Given the description of an element on the screen output the (x, y) to click on. 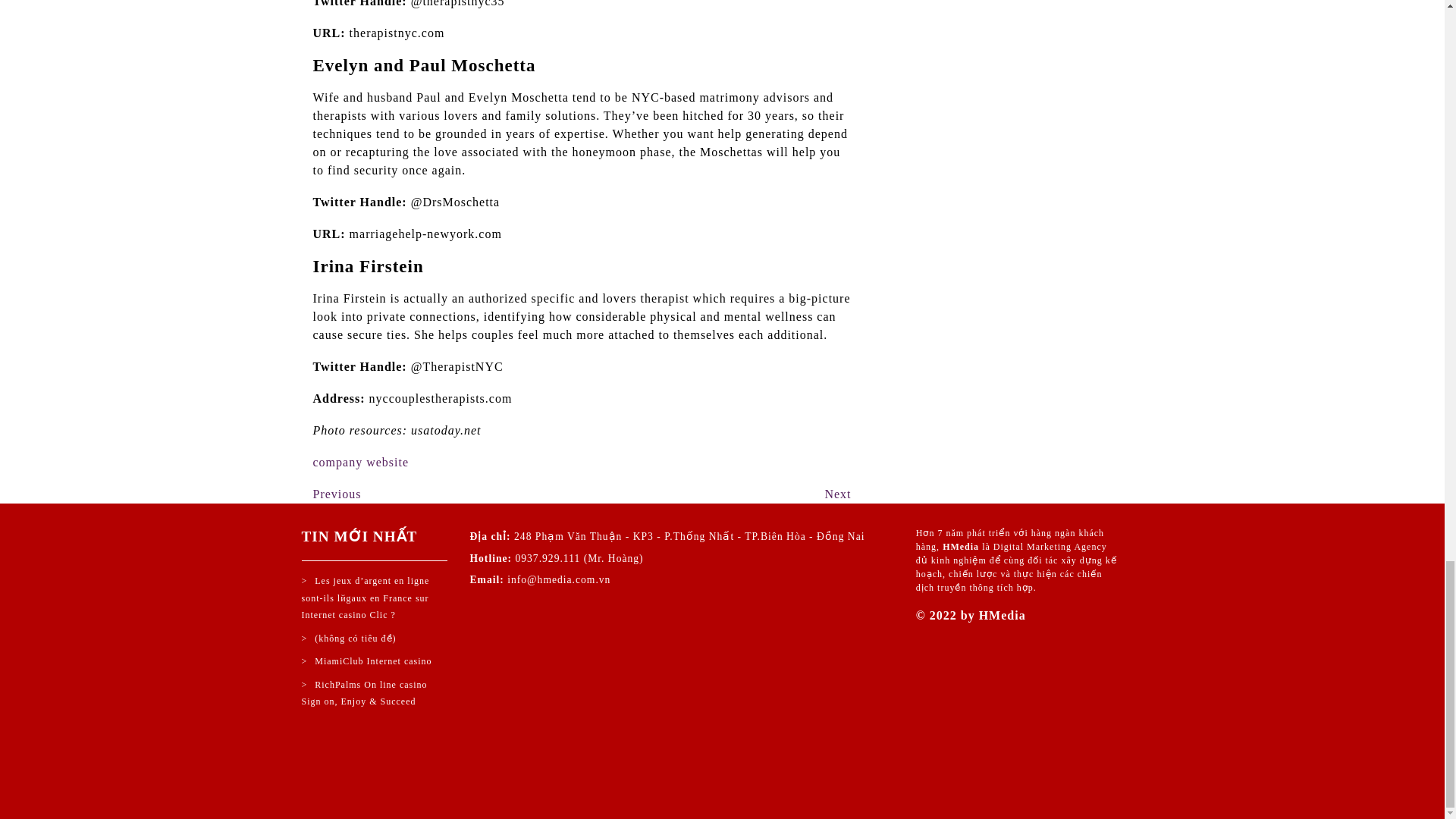
MiamiClub Internet casino (366, 661)
company website (837, 493)
